Given the description of an element on the screen output the (x, y) to click on. 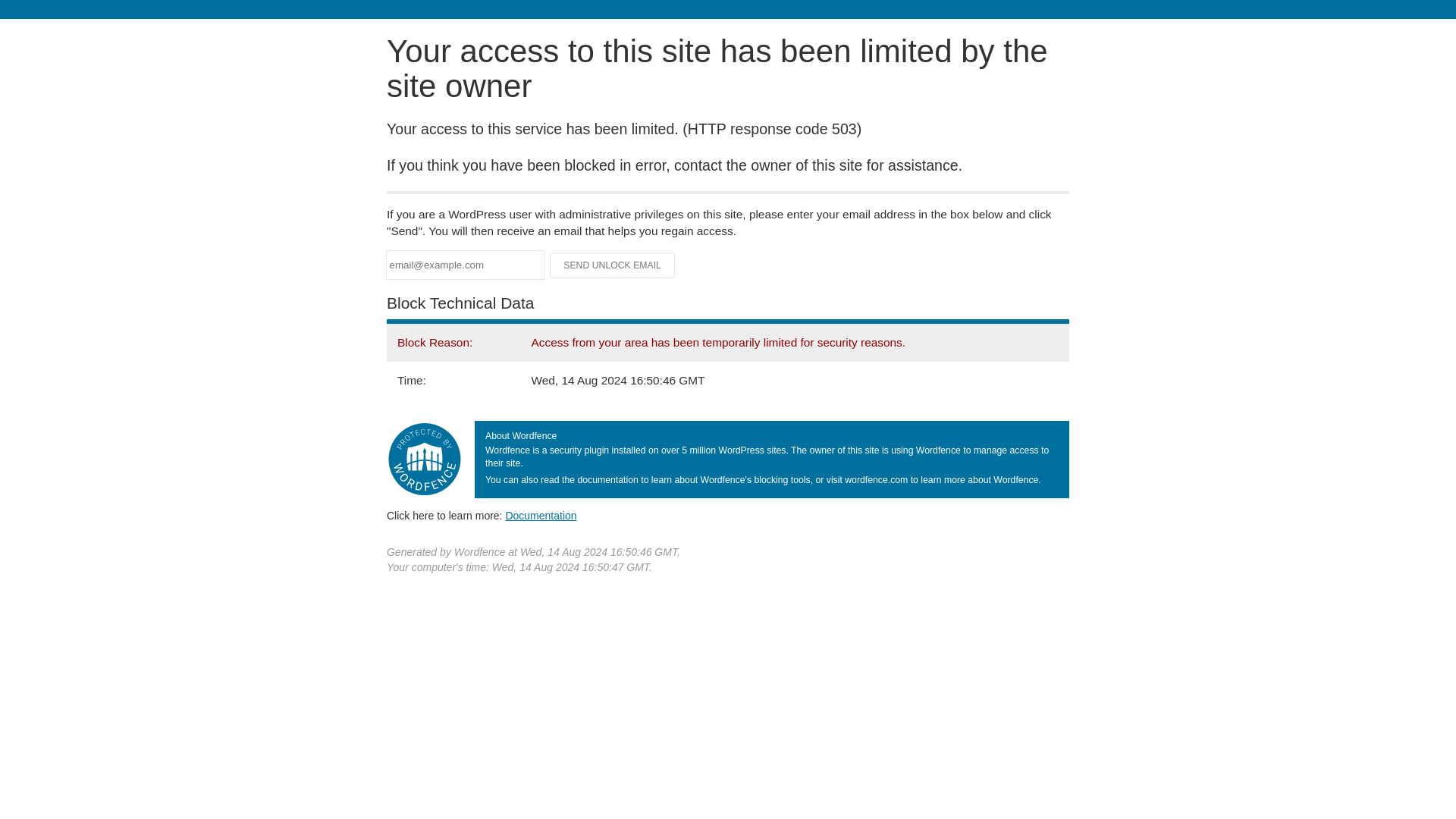
Send Unlock Email (612, 265)
Send Unlock Email (612, 265)
Documentation (540, 515)
